Given the description of an element on the screen output the (x, y) to click on. 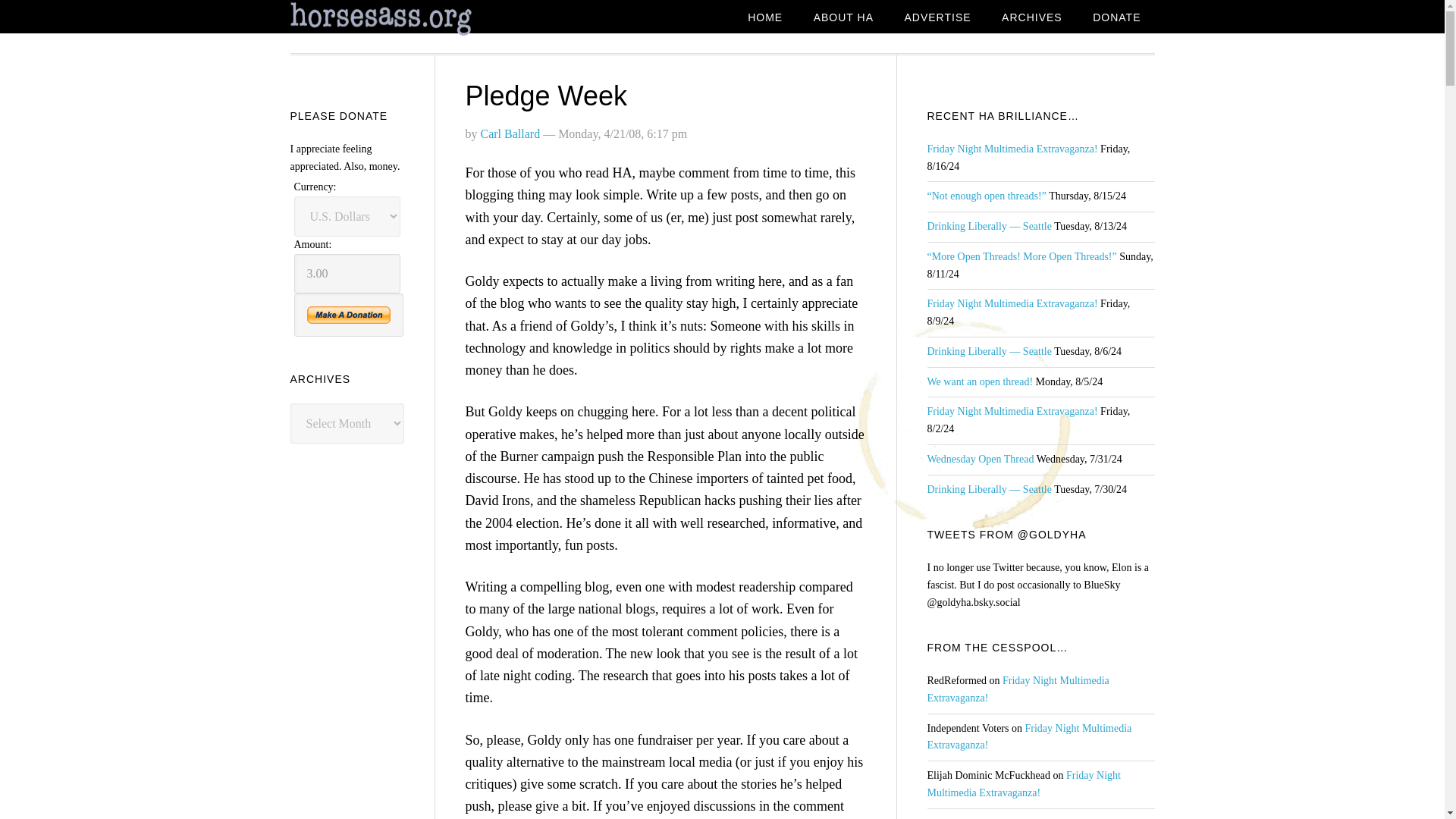
ARCHIVES (1031, 17)
ABOUT HA (842, 17)
DONATE (1116, 17)
The amount you wish to donate (347, 273)
HORSESASS.ORG (410, 19)
Carl Ballard (510, 133)
3.00 (347, 273)
ADVERTISE (936, 17)
HOME (764, 17)
